Given the description of an element on the screen output the (x, y) to click on. 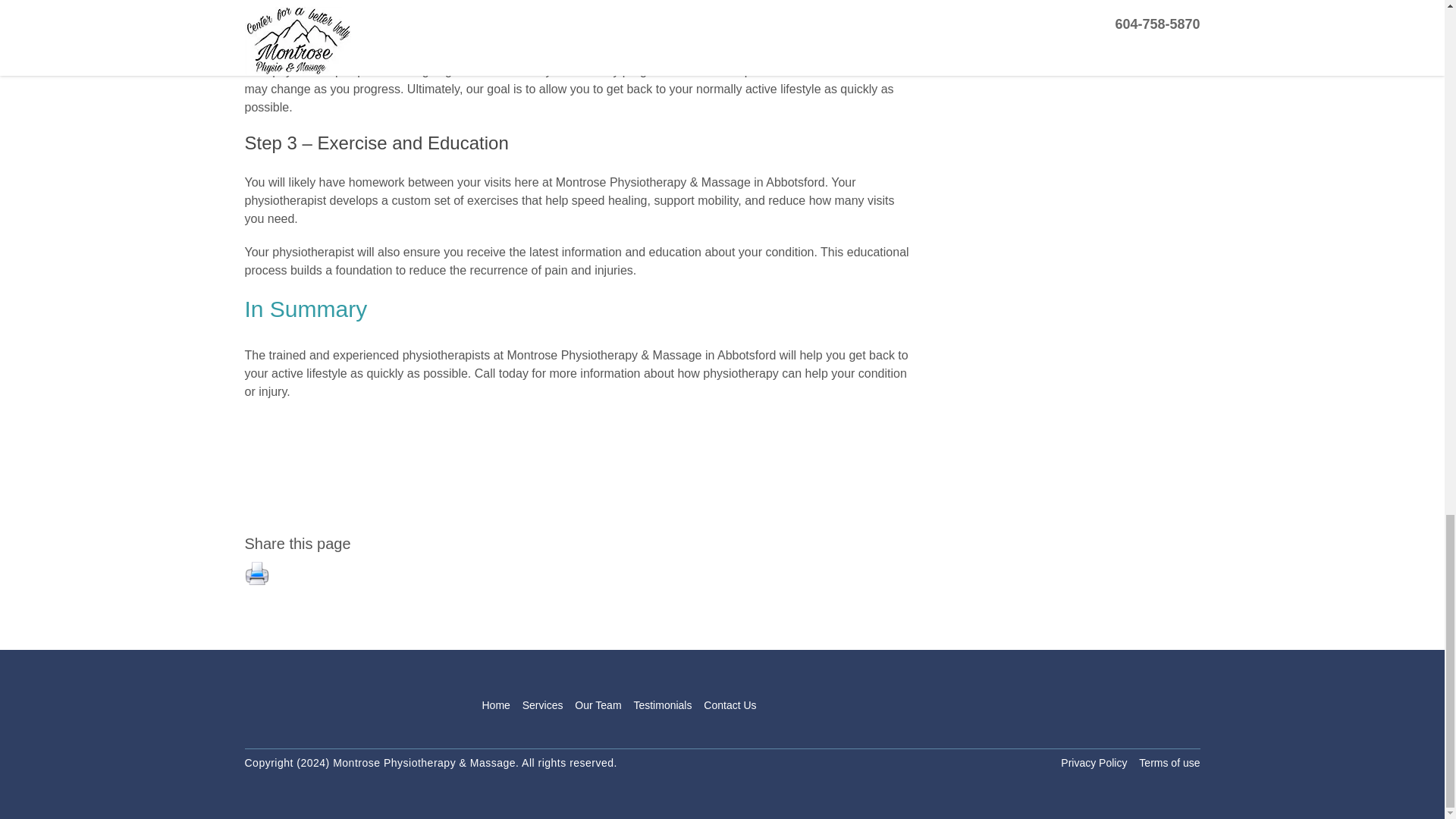
Print page content (255, 572)
